Given the description of an element on the screen output the (x, y) to click on. 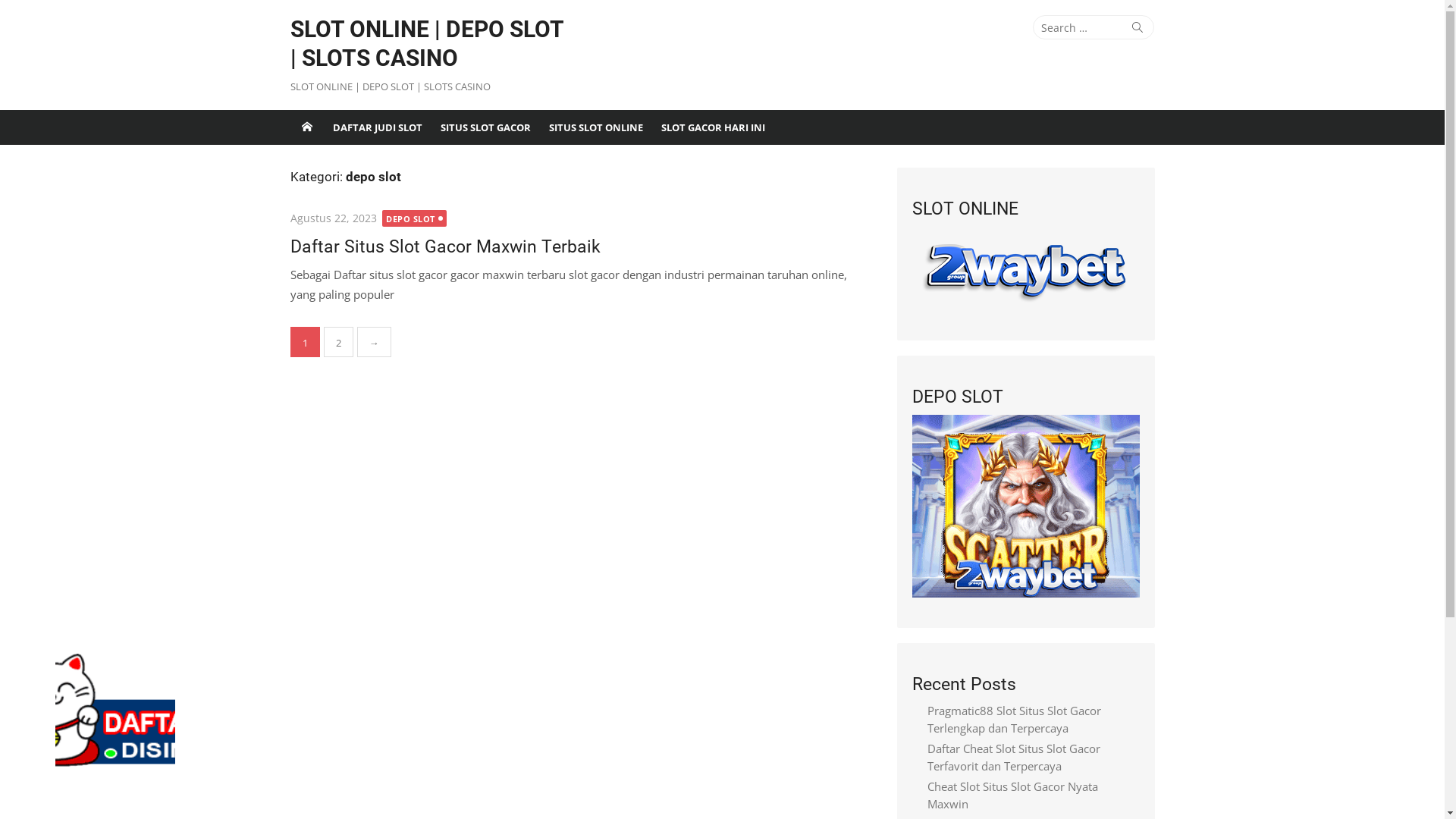
DEPO SLOT Element type: text (414, 218)
SLOT GACOR HARI INI Element type: text (713, 126)
DAFTAR JUDI SLOT Element type: text (376, 126)
Agustus 22, 2023 Element type: text (332, 217)
Search Element type: text (1137, 27)
2 Element type: text (337, 341)
SITUS SLOT GACOR Element type: text (484, 126)
SLOT ONLINE | DEPO SLOT | SLOTS CASINO Element type: text (428, 43)
SLOT ONLINE | DEPO SLOT | SLOTS CASINO Element type: hover (306, 126)
